Given the description of an element on the screen output the (x, y) to click on. 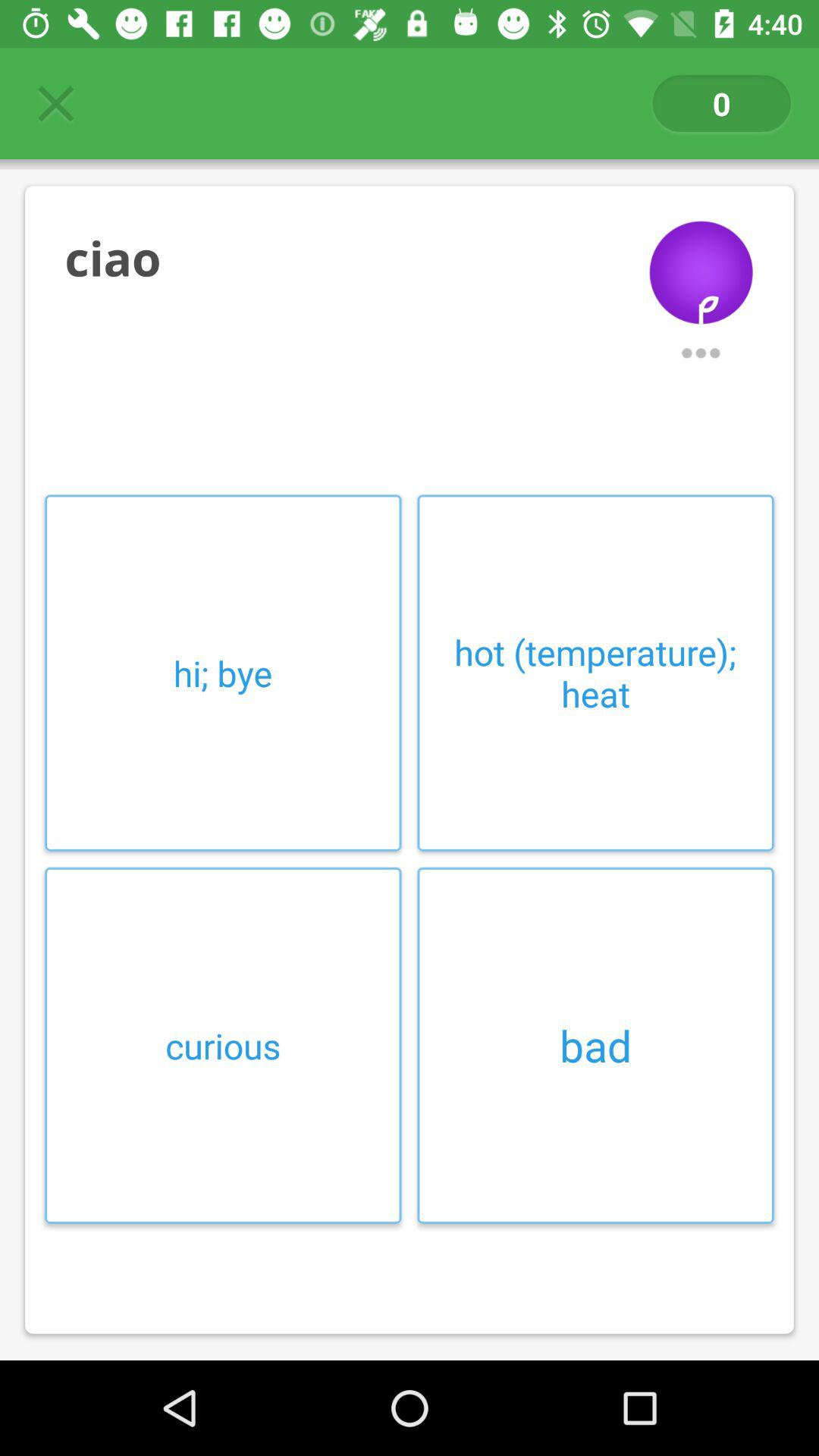
jump until curious (222, 1045)
